Given the description of an element on the screen output the (x, y) to click on. 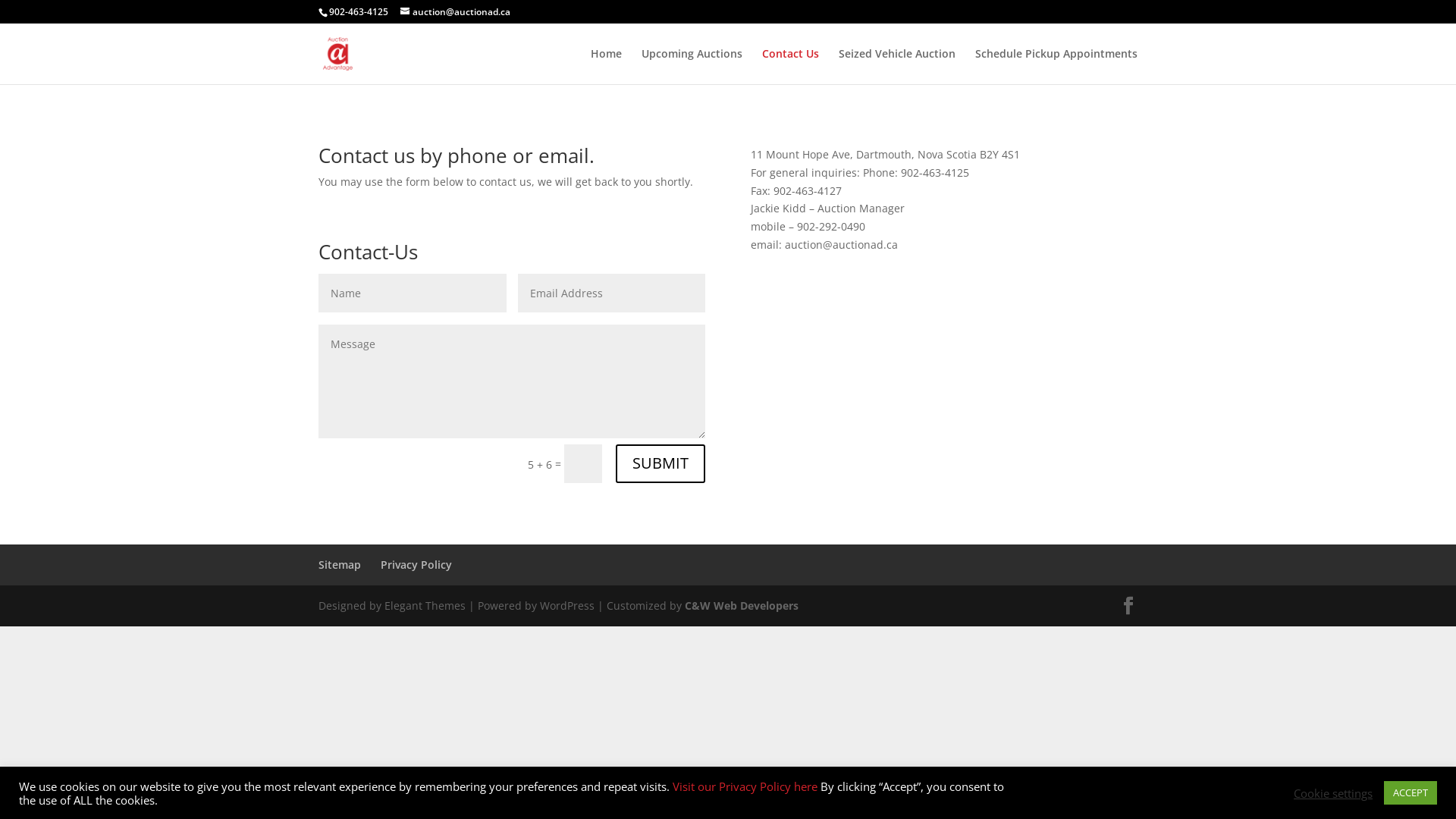
Sitemap Element type: text (339, 564)
Seized Vehicle Auction Element type: text (896, 66)
auction@auctionad.ca Element type: text (455, 11)
SUBMIT Element type: text (660, 463)
C&W Web Developers Element type: text (741, 605)
Contact Us Element type: text (790, 66)
Upcoming Auctions Element type: text (691, 66)
Home Element type: text (605, 66)
ACCEPT Element type: text (1410, 792)
Schedule Pickup Appointments Element type: text (1056, 66)
Visit our Privacy Policy here Element type: text (746, 785)
Cookie settings Element type: text (1332, 792)
Privacy Policy Element type: text (415, 564)
